Given the description of an element on the screen output the (x, y) to click on. 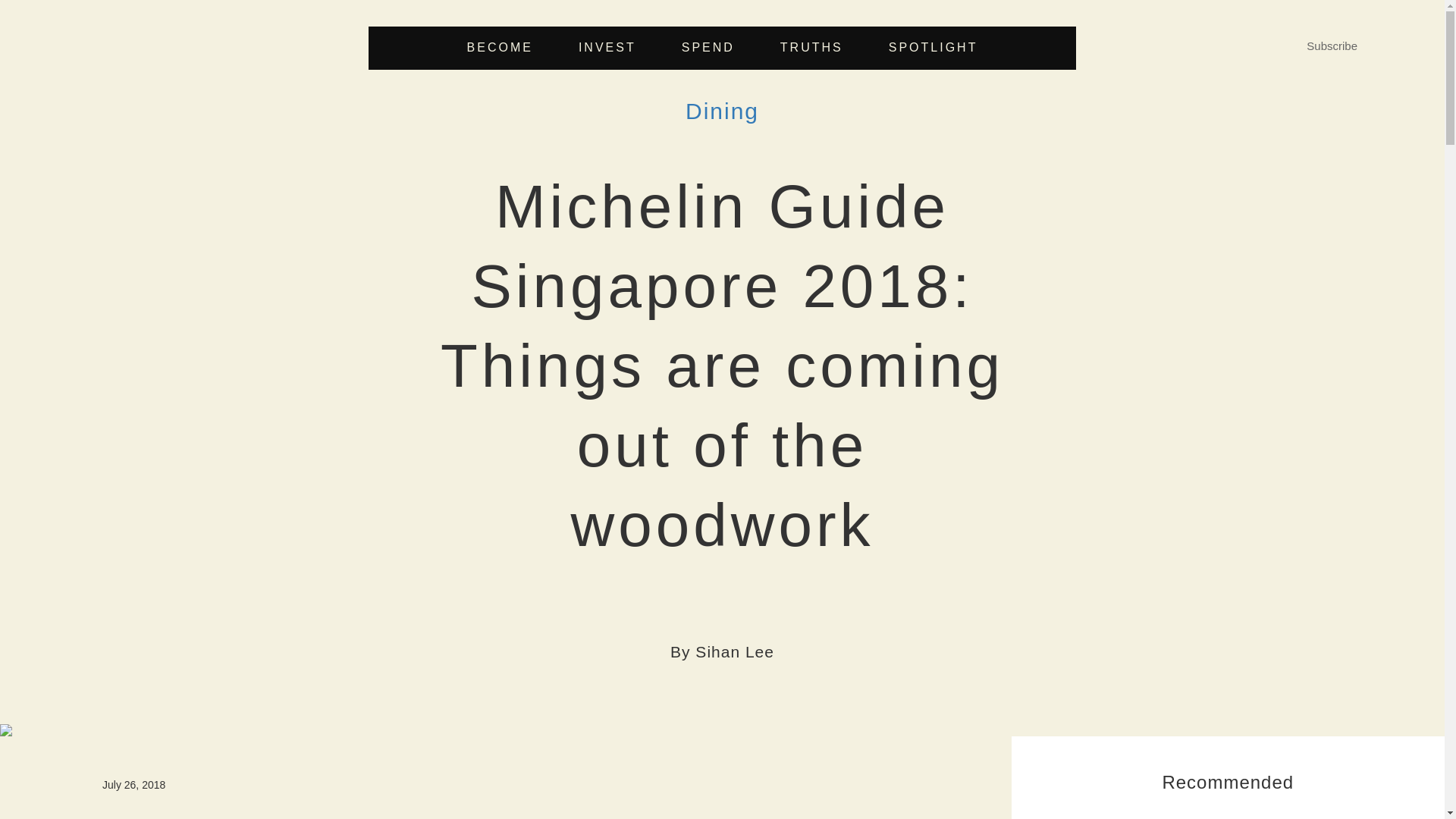
Search (861, 406)
INVEST (606, 48)
Subscribe (1331, 45)
BECOME (500, 48)
